Given the description of an element on the screen output the (x, y) to click on. 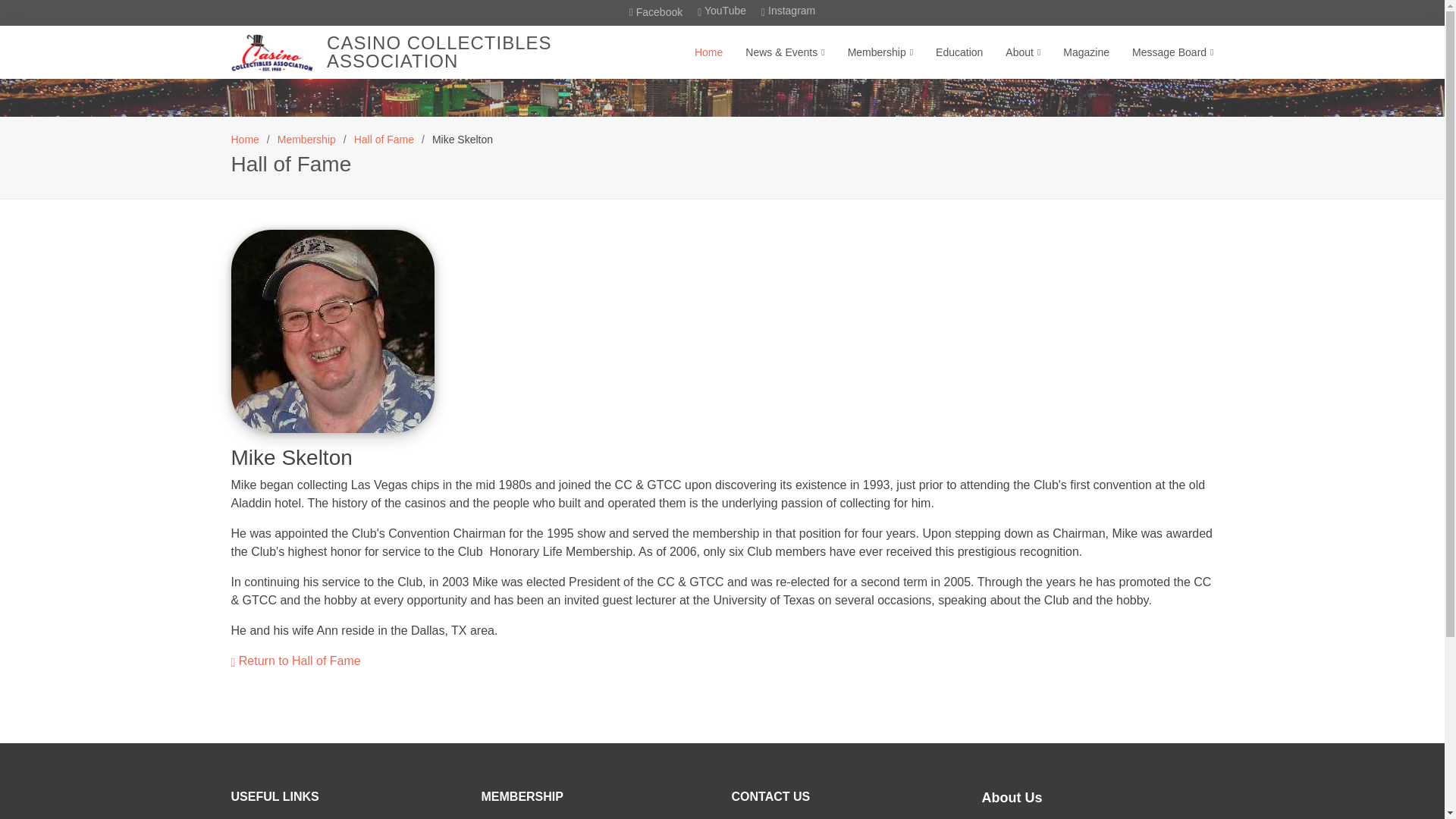
Membership (307, 139)
CASINO COLLECTIBLES ASSOCIATION (438, 51)
Facebook (655, 12)
Magazine (1075, 51)
Membership (868, 51)
Home (244, 139)
About (1011, 51)
YouTube (721, 12)
Message Board (1160, 51)
Hall of Fame (383, 139)
